Given the description of an element on the screen output the (x, y) to click on. 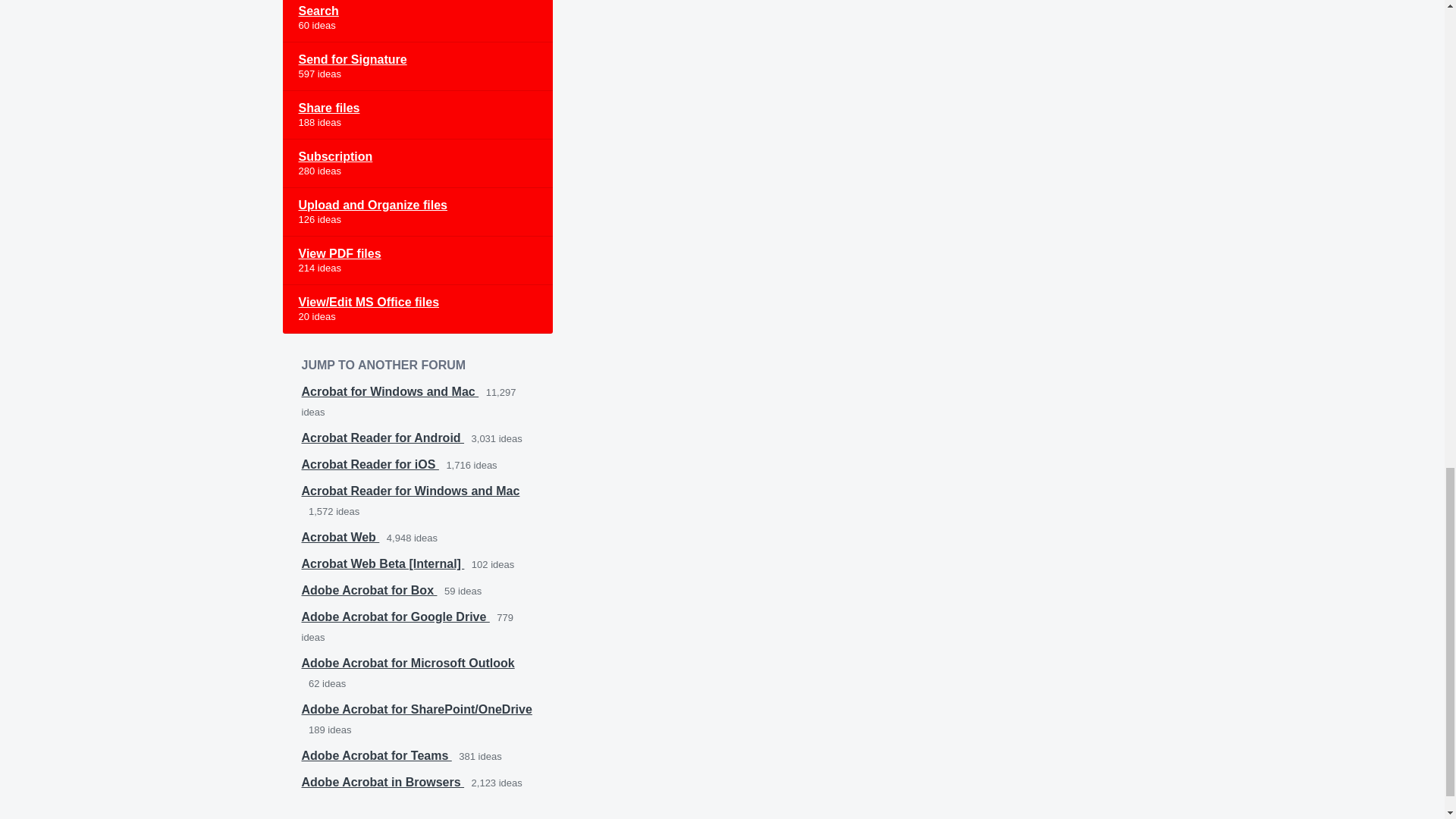
View all ideas in category Send for Signature (417, 66)
Acrobat for Windows and Mac (390, 391)
Share files (417, 114)
Send for Signature (417, 66)
Acrobat Reader for Android (382, 437)
View all ideas in category Search (417, 21)
Search (417, 21)
View PDF files (417, 260)
Acrobat Reader for Windows and Mac (410, 490)
Acrobat Reader for iOS (370, 463)
